Given the description of an element on the screen output the (x, y) to click on. 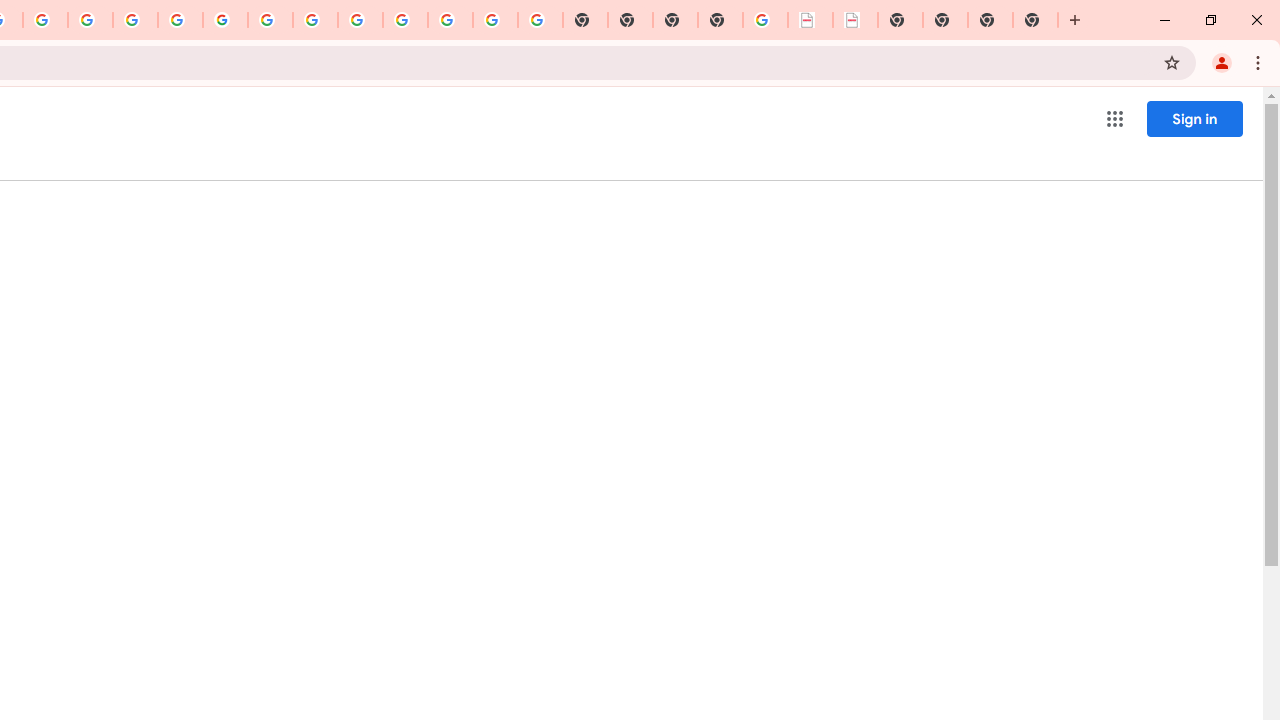
LAAD Defence & Security 2025 | BAE Systems (810, 20)
New Tab (1035, 20)
YouTube (270, 20)
Google Images (540, 20)
Privacy Help Center - Policies Help (134, 20)
